Given the description of an element on the screen output the (x, y) to click on. 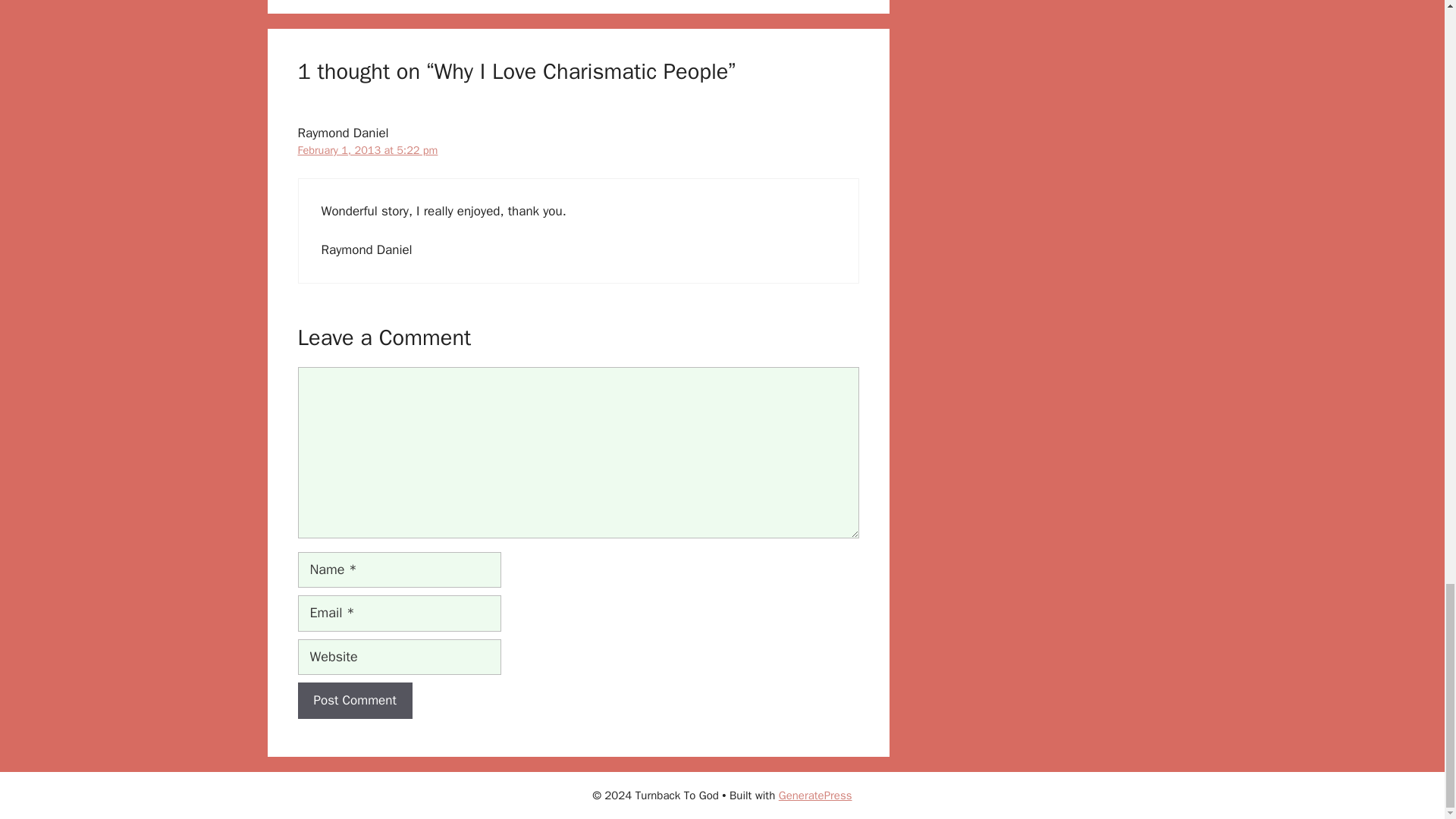
Post Comment (354, 565)
Post Comment (354, 565)
February 1, 2013 at 5:22 pm (367, 14)
